Given the description of an element on the screen output the (x, y) to click on. 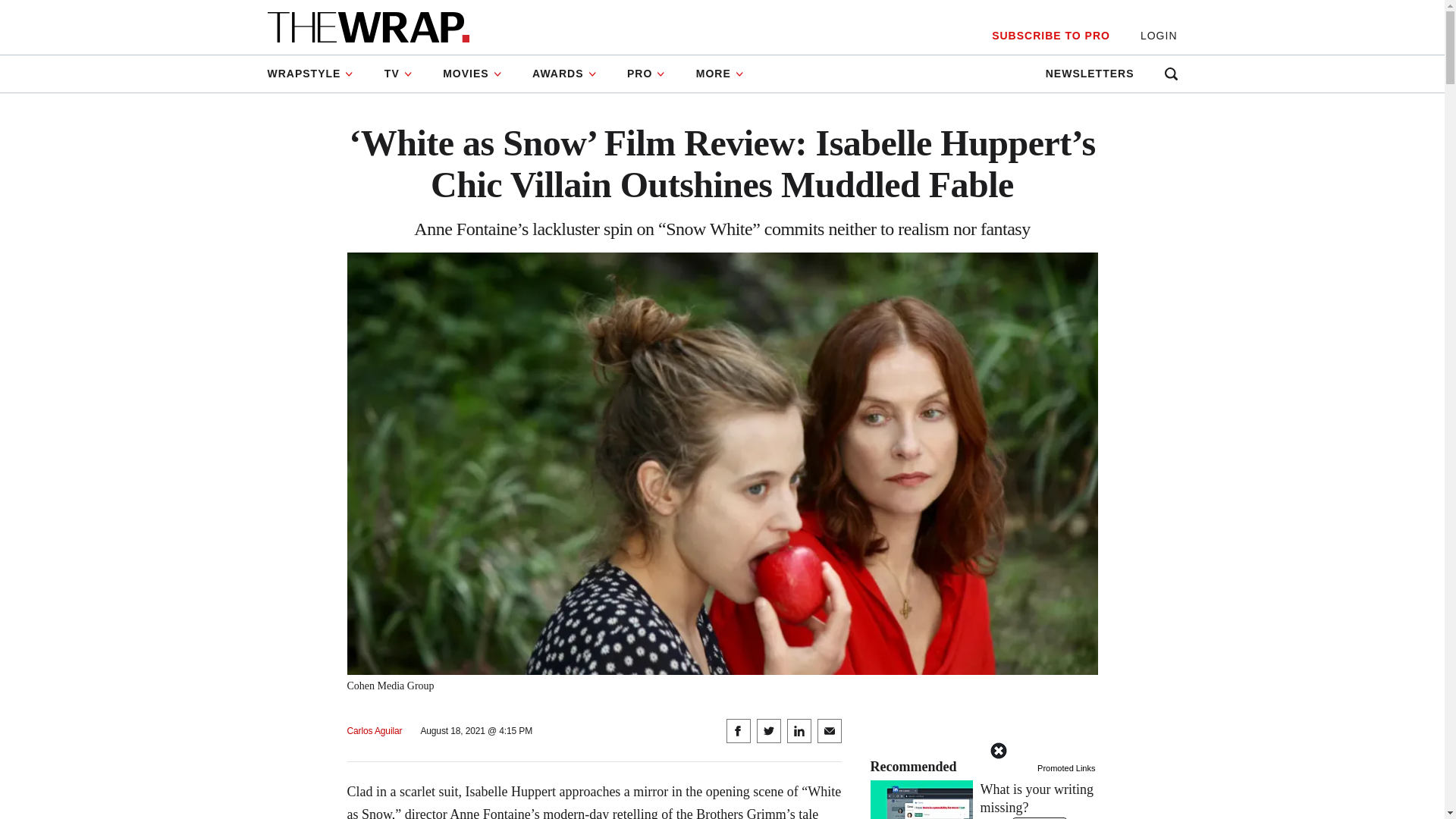
LOGIN (1158, 35)
Posts by Carlos Aguilar (375, 731)
MORE (719, 73)
What is your writing missing? (983, 799)
TV (398, 73)
WRAPSTYLE (317, 73)
PRO (646, 73)
AWARDS (563, 73)
SUBSCRIBE TO PRO (1050, 35)
MOVIES (472, 73)
3rd party ad content (721, 785)
